Given the description of an element on the screen output the (x, y) to click on. 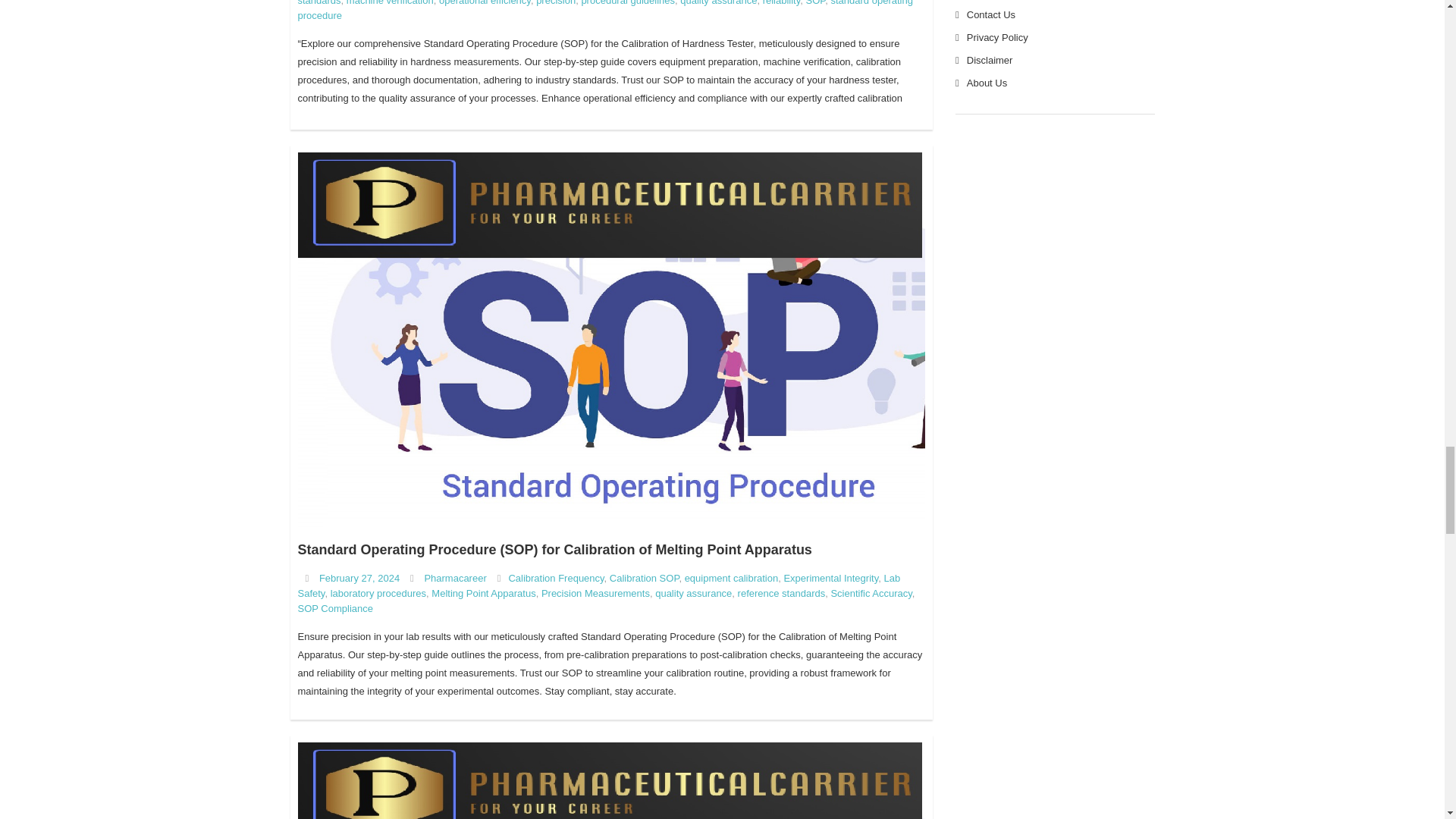
View all posts by Pharmacareer (454, 577)
10:07 pm (358, 577)
